Given the description of an element on the screen output the (x, y) to click on. 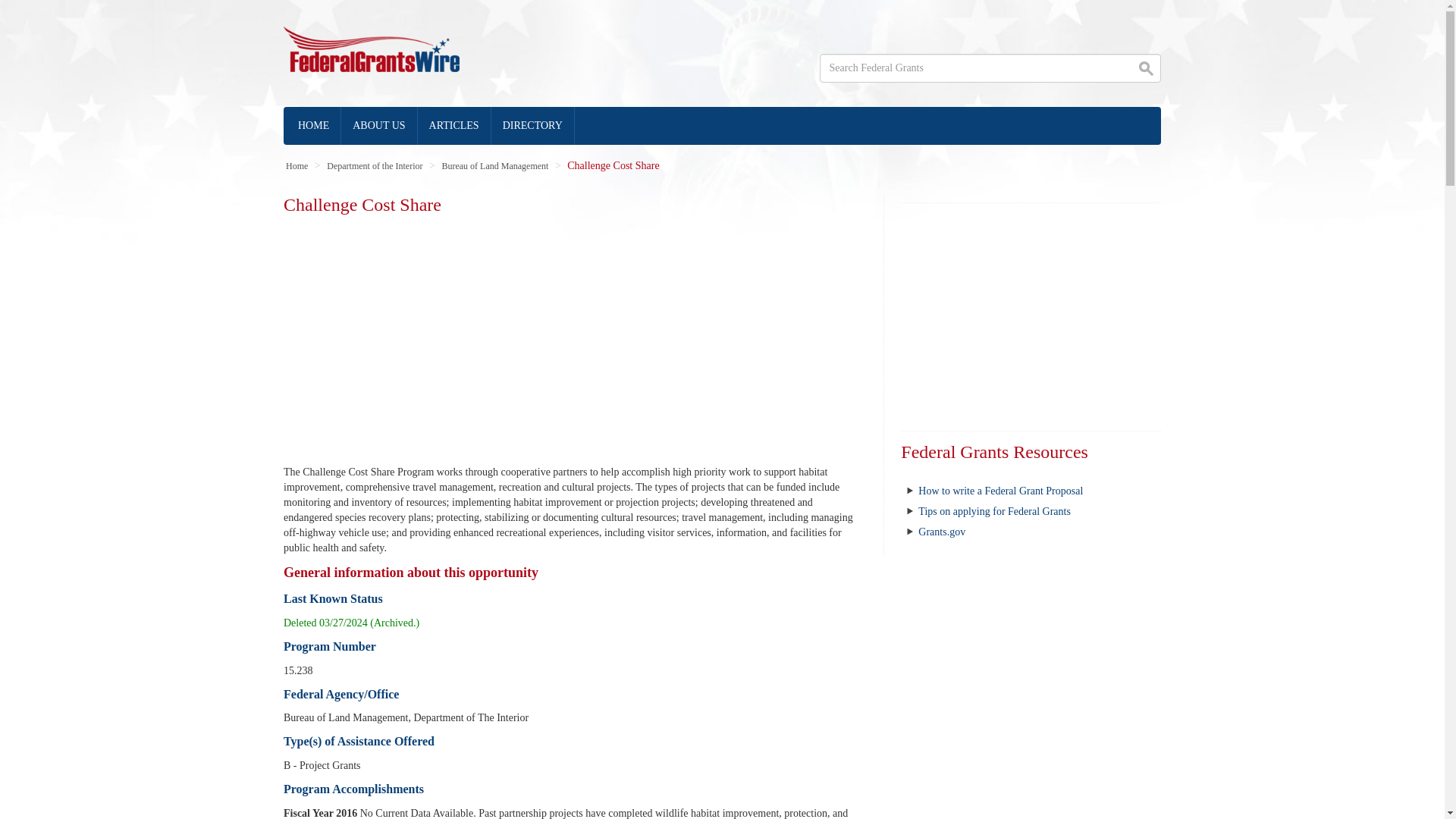
How to write a Federal Grant Proposal (1000, 490)
Grants.gov (941, 531)
Home (296, 165)
ARTICLES (454, 125)
Department of the Interior (374, 165)
DIRECTORY (533, 125)
HOME (313, 125)
Bureau of Land Management (494, 165)
Tips on applying for Federal Grants (994, 511)
ABOUT US (378, 125)
